Given the description of an element on the screen output the (x, y) to click on. 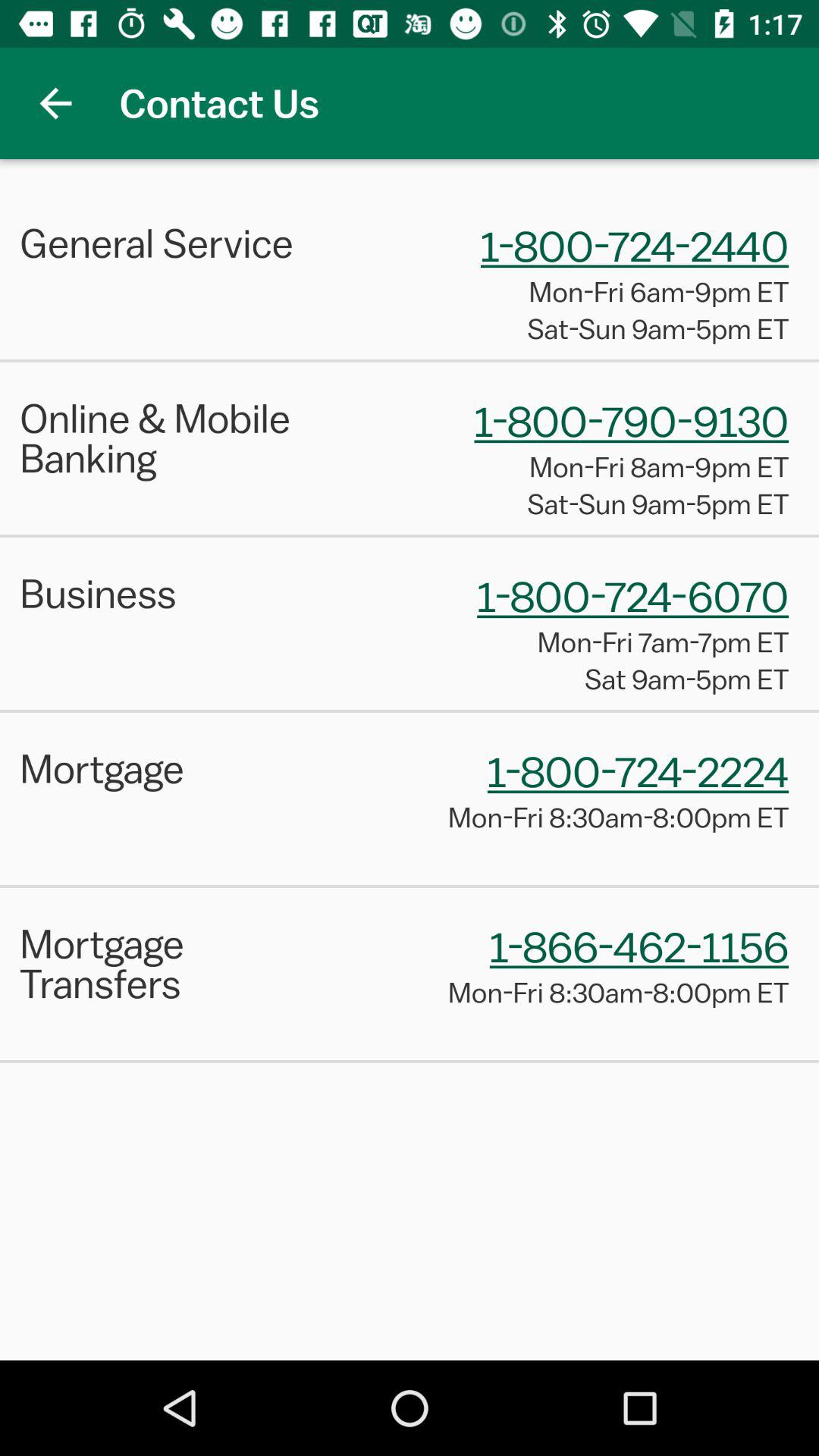
turn on online & mobile banking (179, 437)
